Given the description of an element on the screen output the (x, y) to click on. 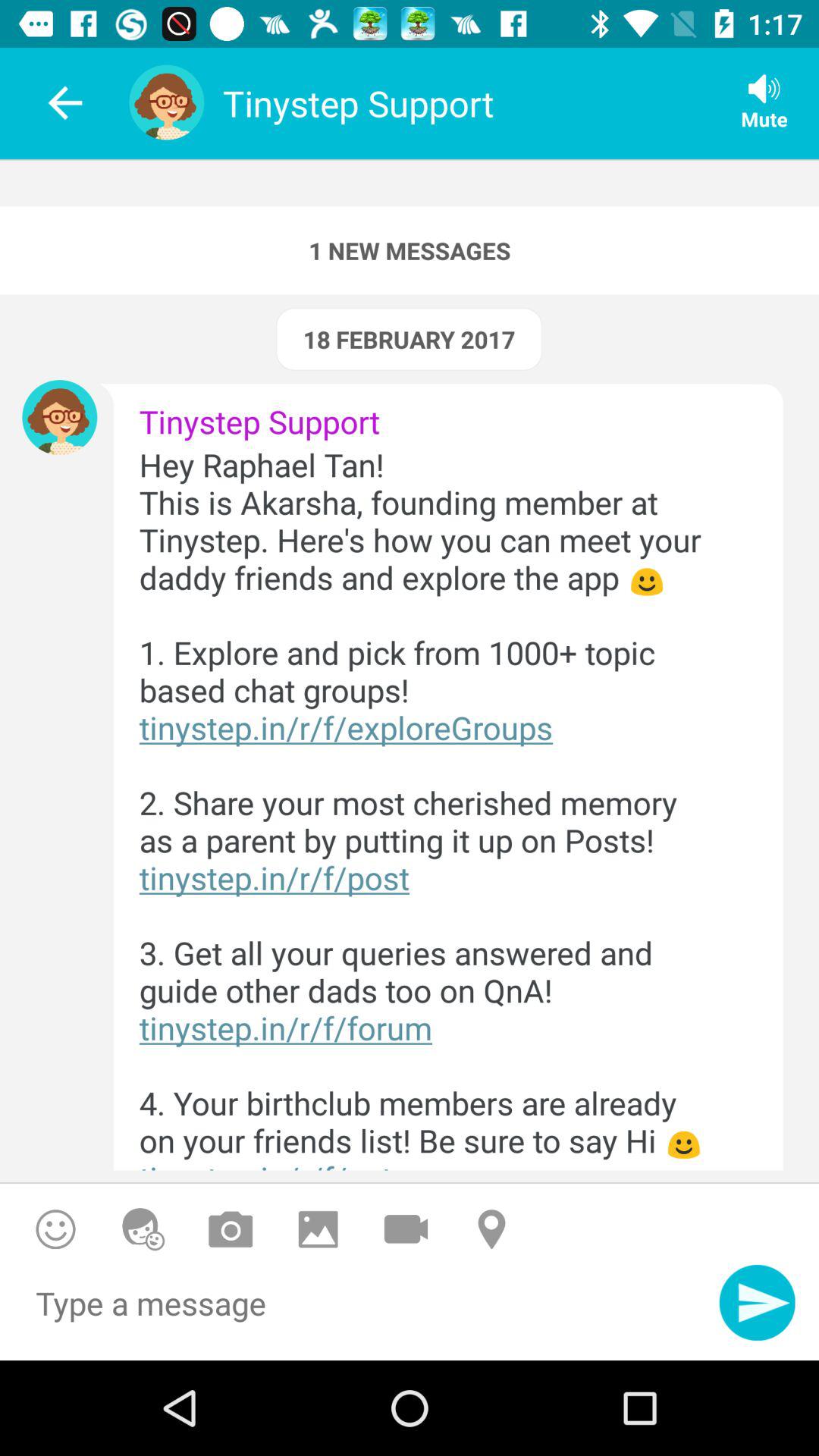
toggle location on or off (493, 1229)
